Given the description of an element on the screen output the (x, y) to click on. 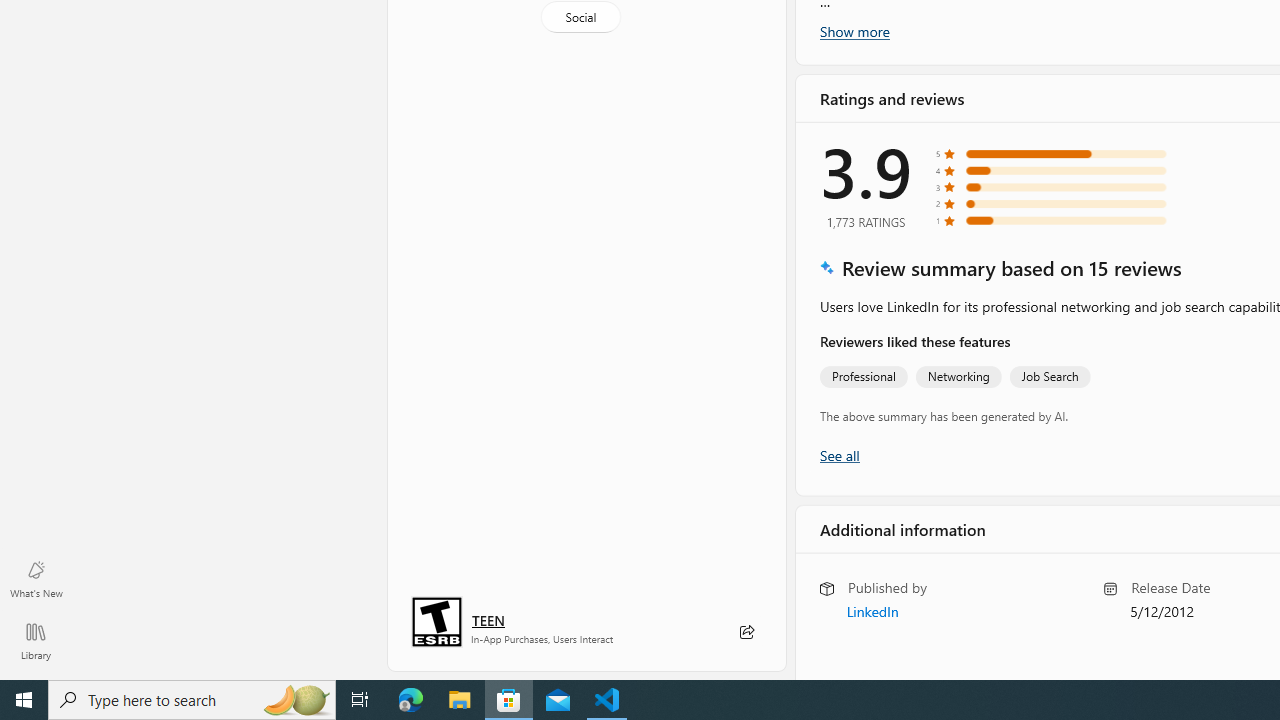
What's New (35, 578)
Share (746, 632)
Library (35, 640)
Show more (854, 625)
Social (579, 22)
Show all ratings and reviews (838, 454)
Age rating: TEEN. Click for more information. (488, 619)
